Given the description of an element on the screen output the (x, y) to click on. 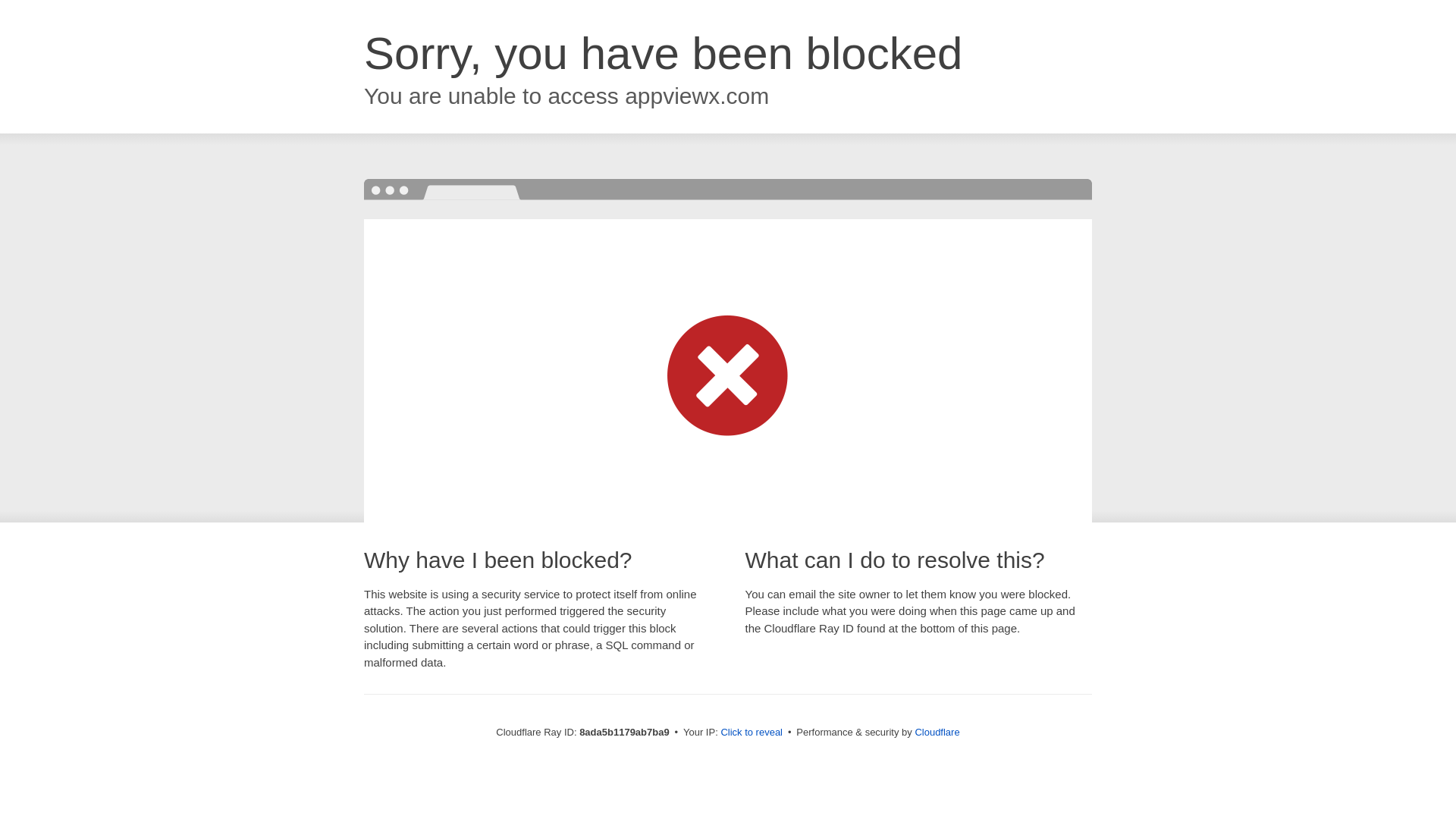
Cloudflare (936, 731)
Click to reveal (751, 732)
